Given the description of an element on the screen output the (x, y) to click on. 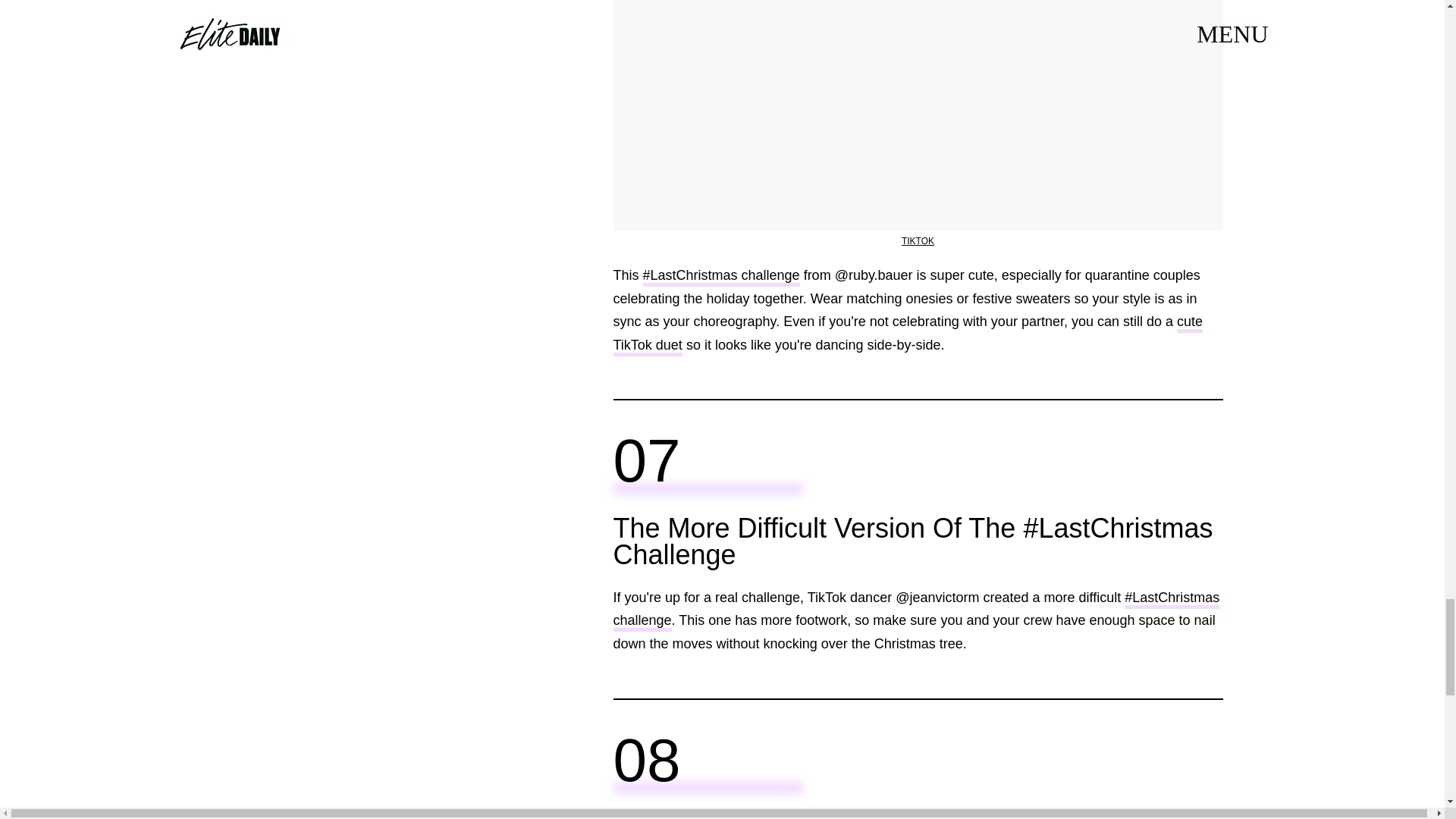
TIKTOK (917, 240)
cute TikTok duet (907, 334)
